Given the description of an element on the screen output the (x, y) to click on. 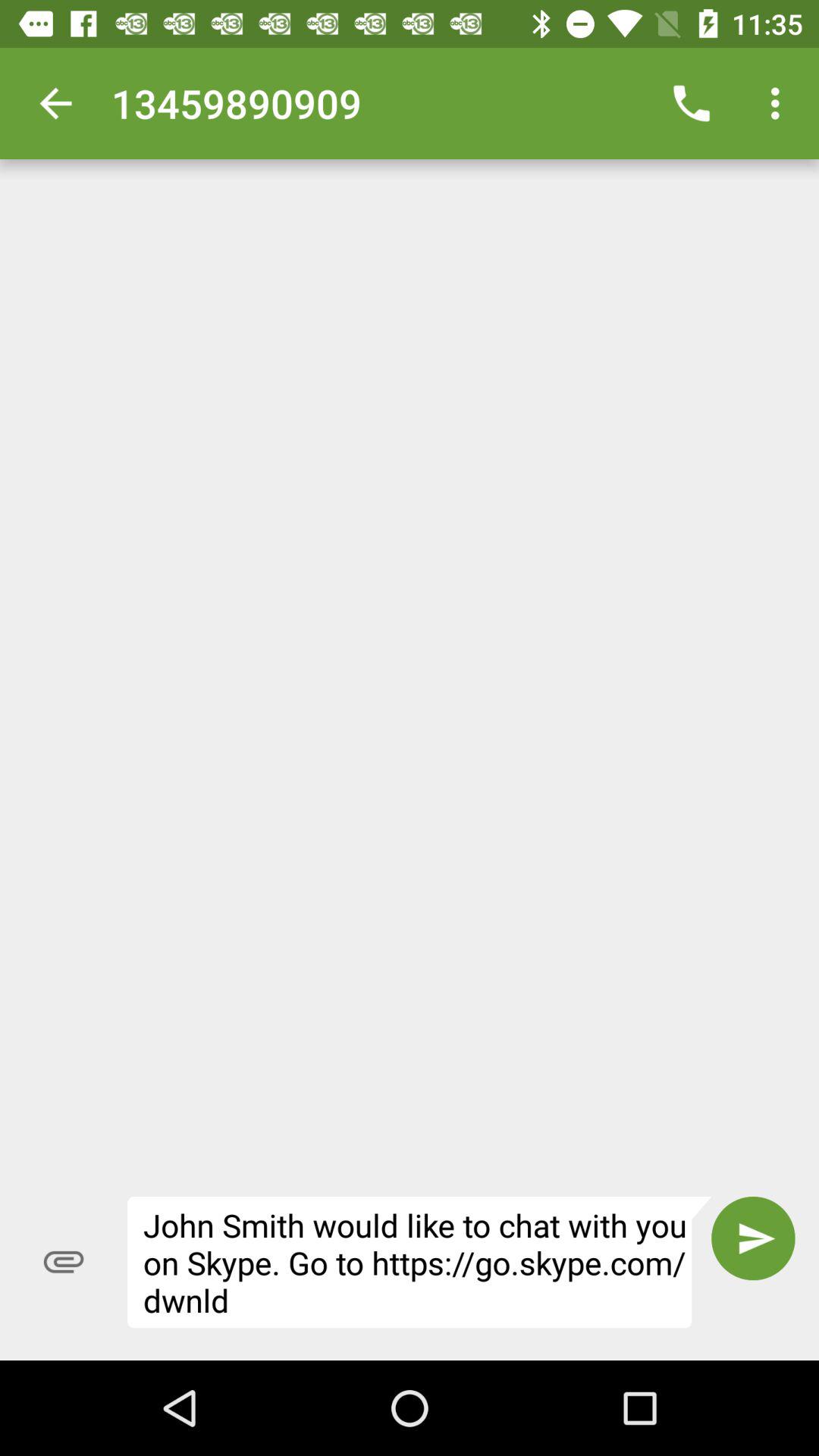
launch the item to the left of the john smith would (63, 1261)
